Given the description of an element on the screen output the (x, y) to click on. 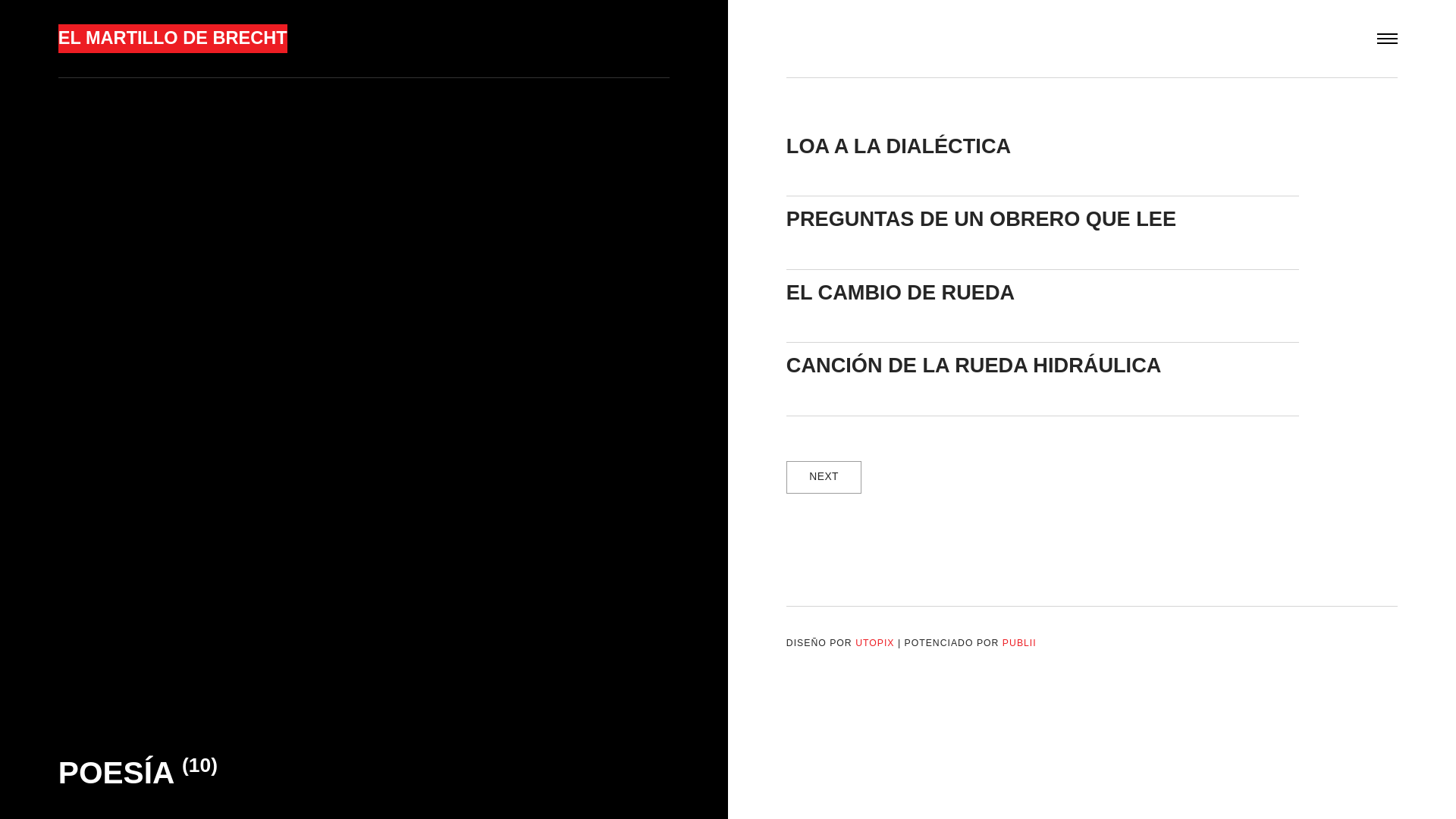
PUBLII Element type: text (1019, 642)
EL CAMBIO DE RUEDA Element type: text (900, 292)
PREGUNTAS DE UN OBRERO QUE LEE Element type: text (981, 218)
NEXT Element type: text (824, 477)
UTOPIX Element type: text (874, 642)
Menu Element type: text (1387, 38)
EL MARTILLO DE BRECHT Element type: text (172, 38)
